Given the description of an element on the screen output the (x, y) to click on. 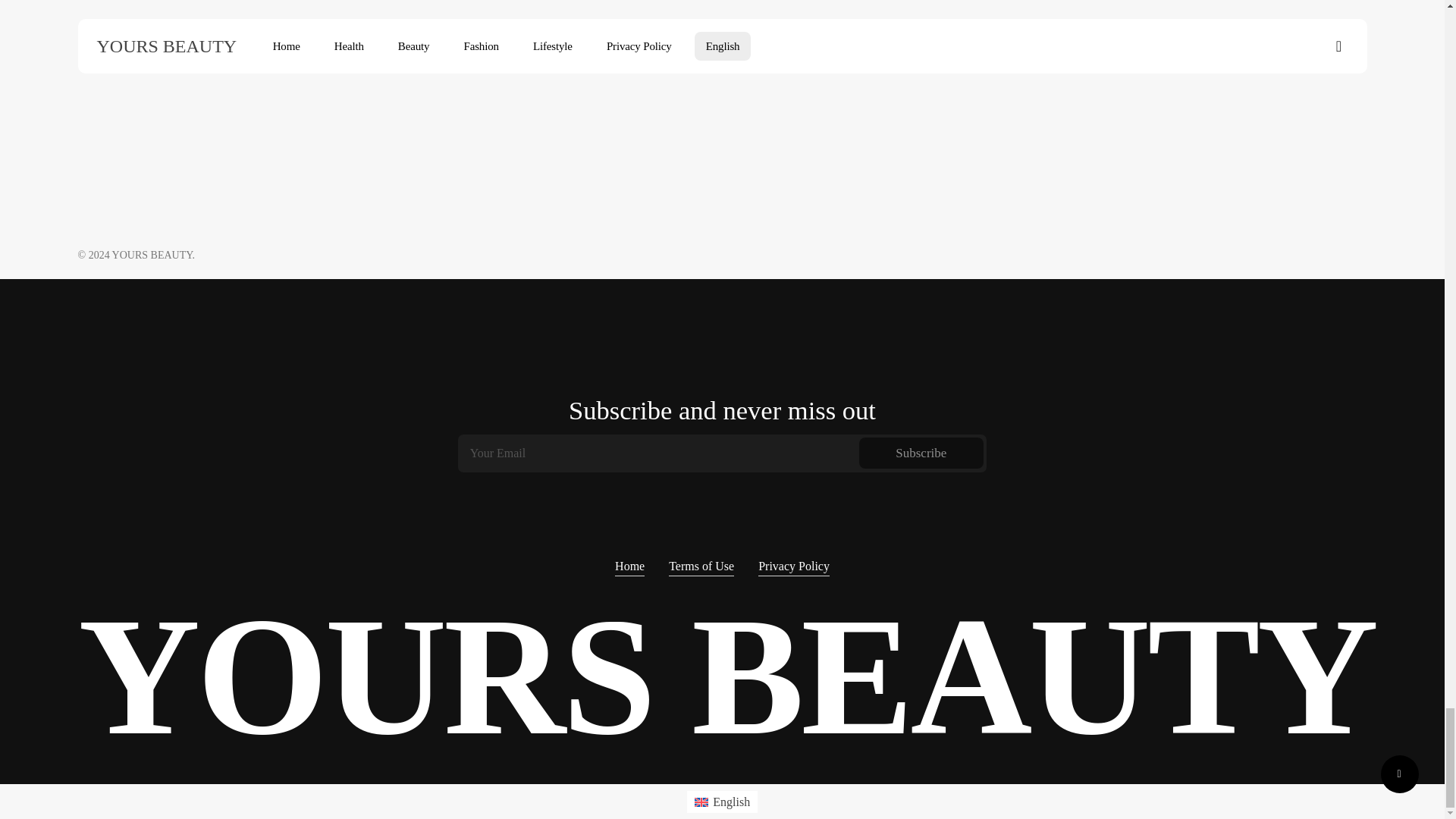
Home (629, 566)
Subscribe (920, 453)
